Given the description of an element on the screen output the (x, y) to click on. 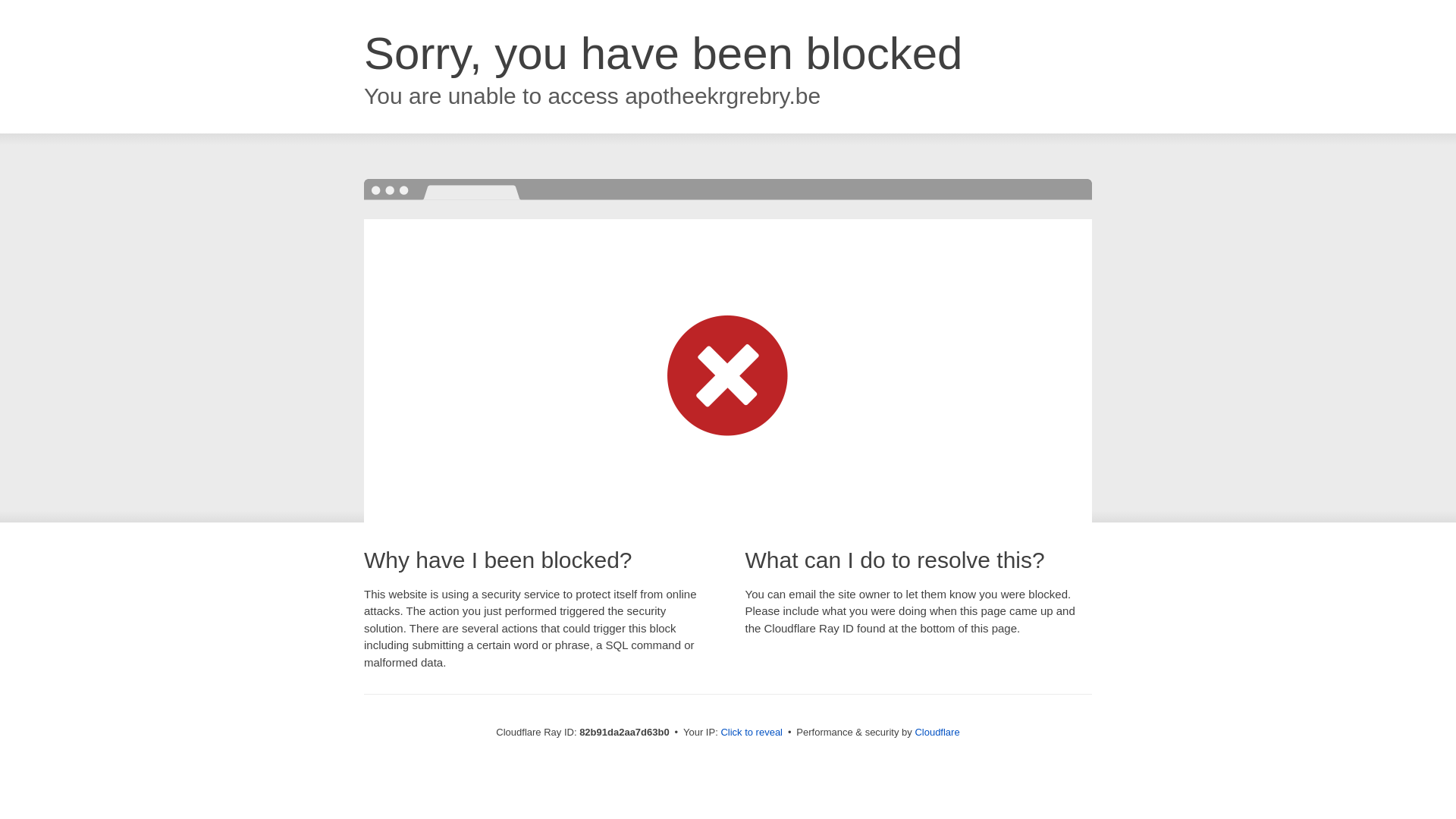
Cloudflare Element type: text (936, 731)
Click to reveal Element type: text (751, 732)
